Given the description of an element on the screen output the (x, y) to click on. 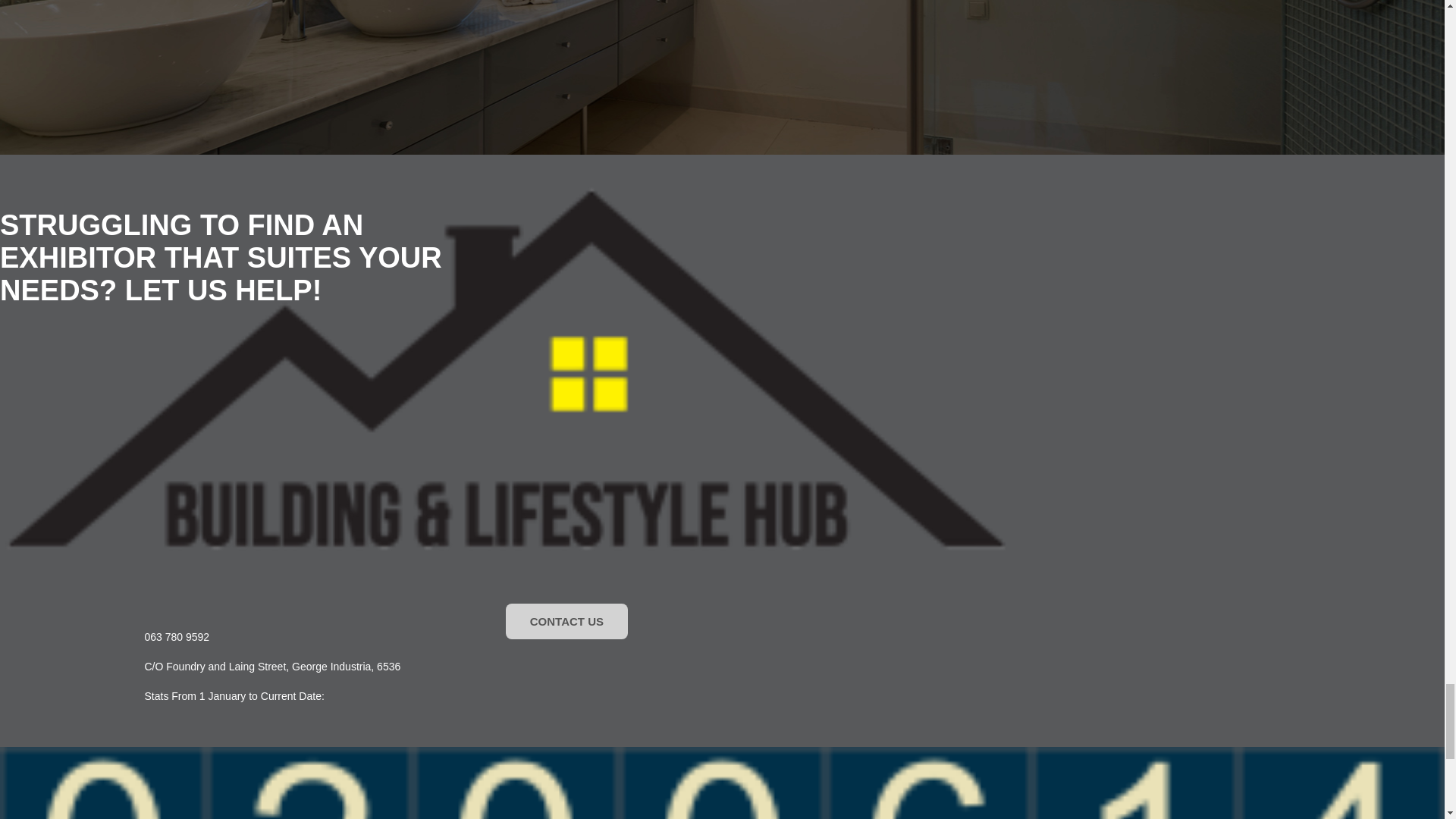
CONTACT US (566, 621)
